Given the description of an element on the screen output the (x, y) to click on. 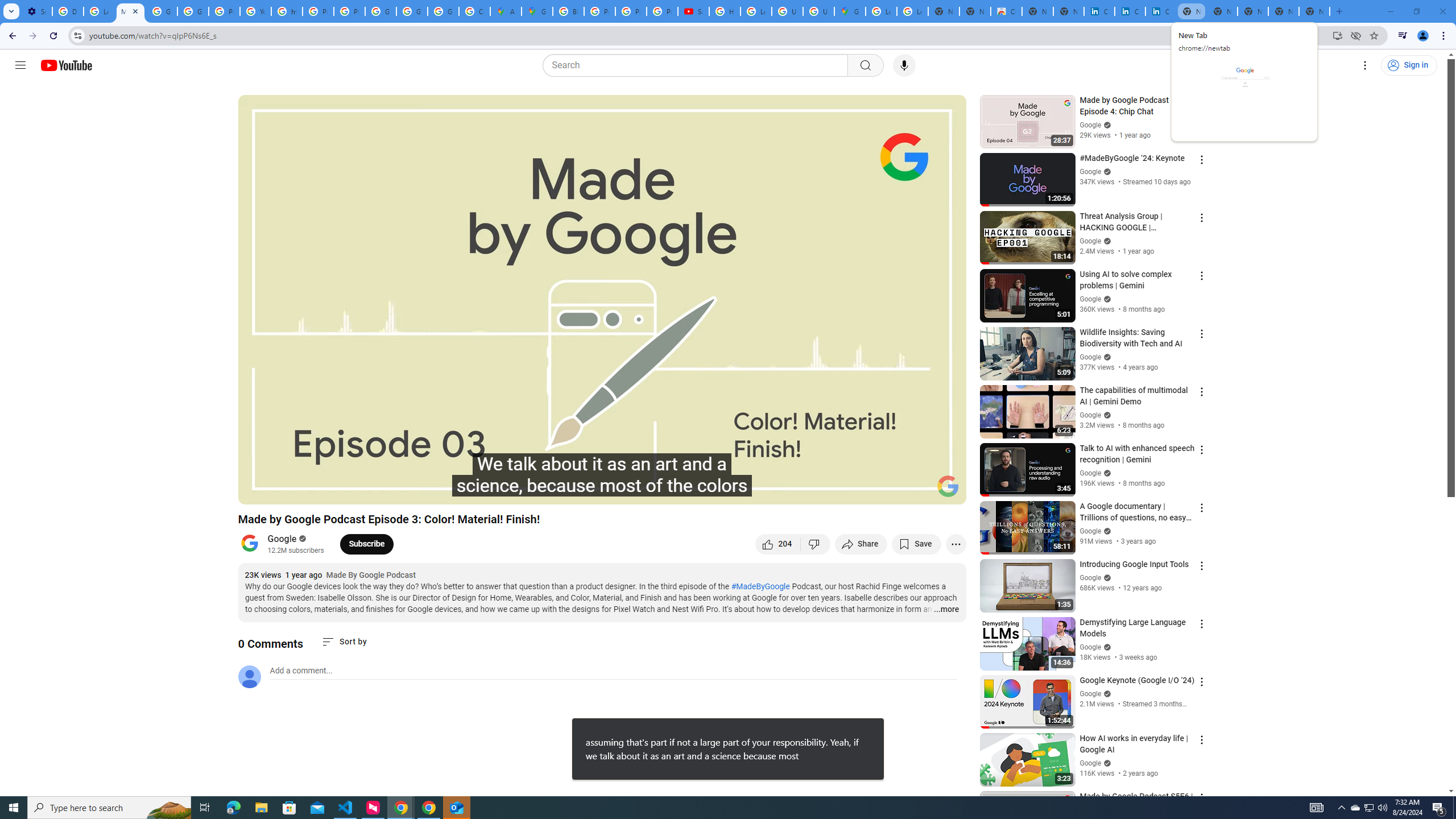
#MadeByGoogle (1355, 807)
File Explorer (760, 586)
Show more lines (261, 807)
